Given the description of an element on the screen output the (x, y) to click on. 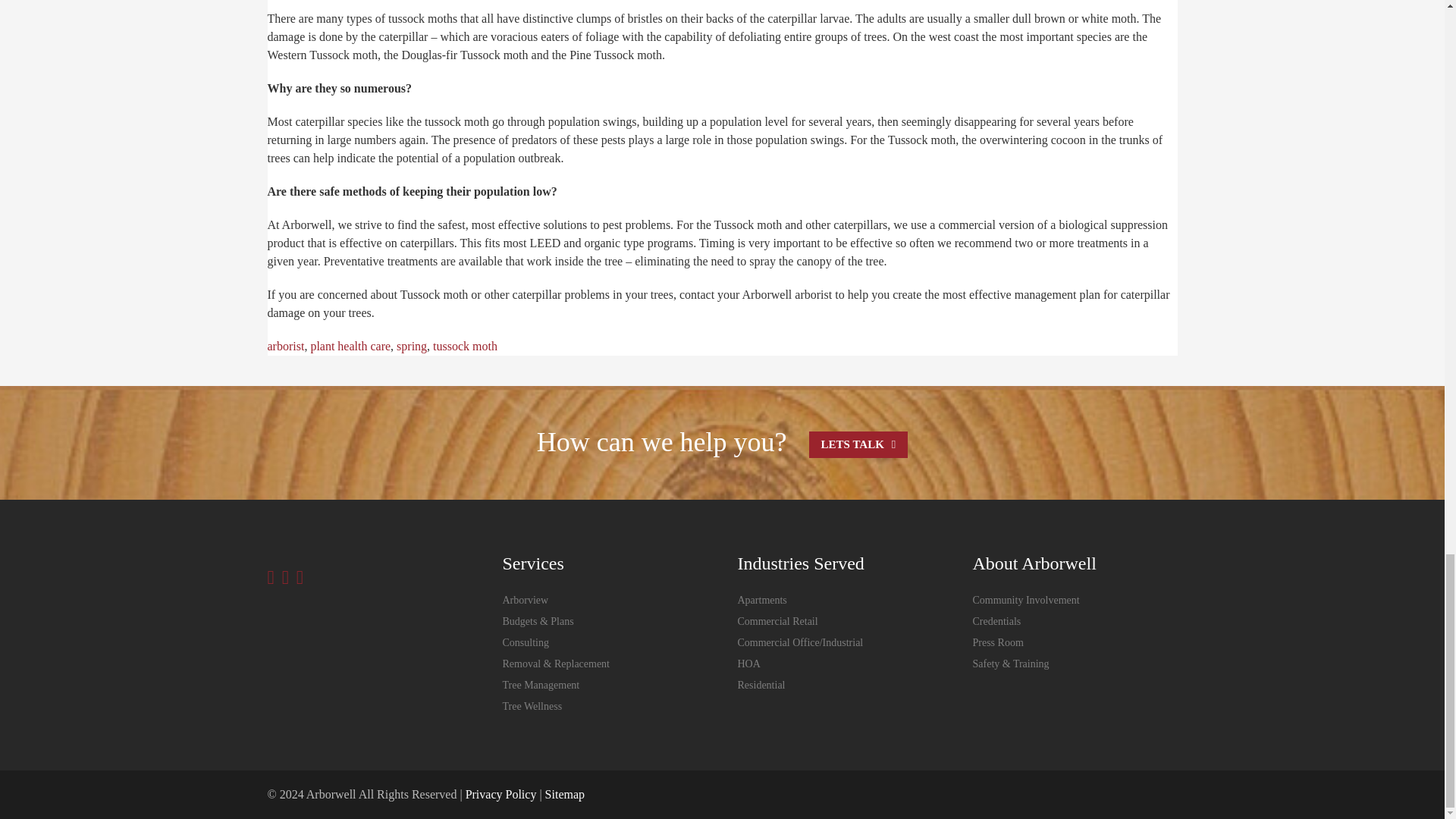
LETS TALK (858, 444)
tussock moth (464, 345)
spring (411, 345)
arborist (285, 345)
plant health care (350, 345)
